Given the description of an element on the screen output the (x, y) to click on. 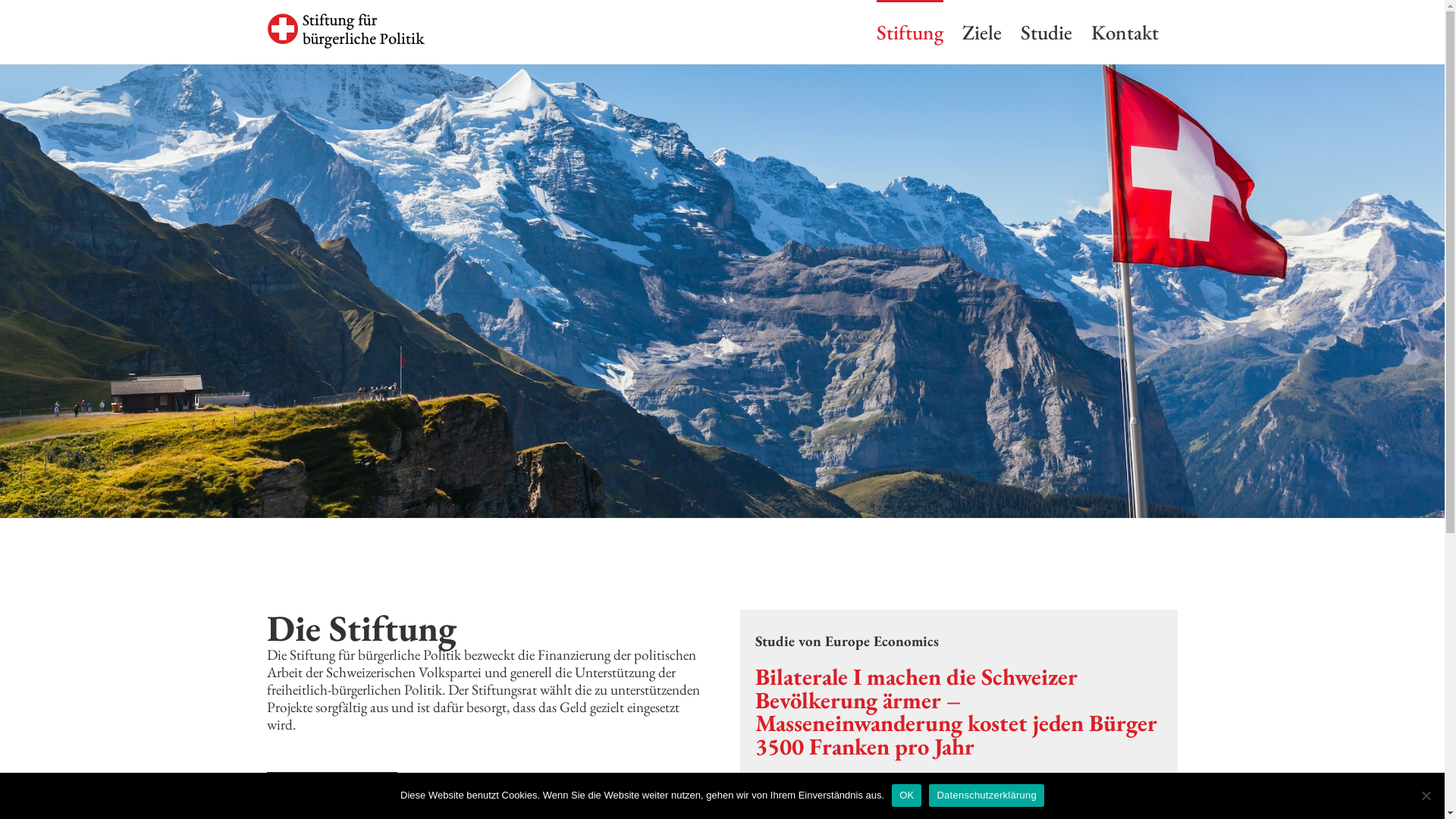
Zur Studie Element type: text (810, 789)
Kontakt Element type: text (1123, 31)
Stiftung Element type: text (909, 31)
Ziele Element type: text (981, 31)
OK Element type: text (906, 795)
Studie Element type: text (1046, 31)
Nein Element type: hover (1425, 795)
Ziele der Stiftung Element type: text (331, 787)
